Given the description of an element on the screen output the (x, y) to click on. 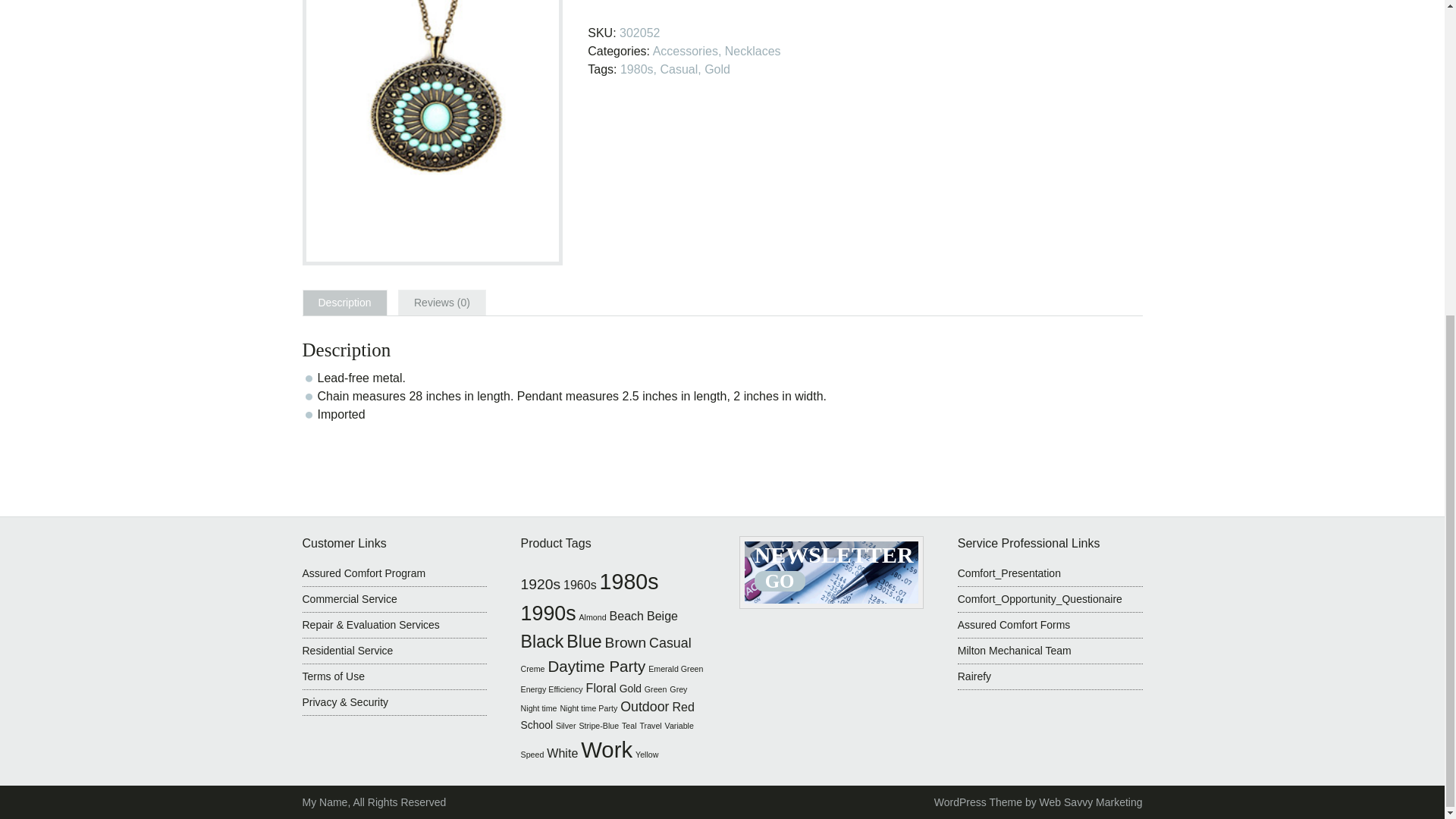
Eye-of-Elegance-Necklace (431, 132)
Necklaces (752, 51)
Description (344, 302)
Assured Comfort Program (363, 573)
Casual (678, 69)
Gold (717, 69)
Accessories (684, 51)
1920s (540, 584)
Commercial Service (348, 598)
1960s (579, 584)
1980s (629, 581)
Terms of Use (332, 676)
1980s (636, 69)
Residential Service (347, 650)
1990s (548, 612)
